Given the description of an element on the screen output the (x, y) to click on. 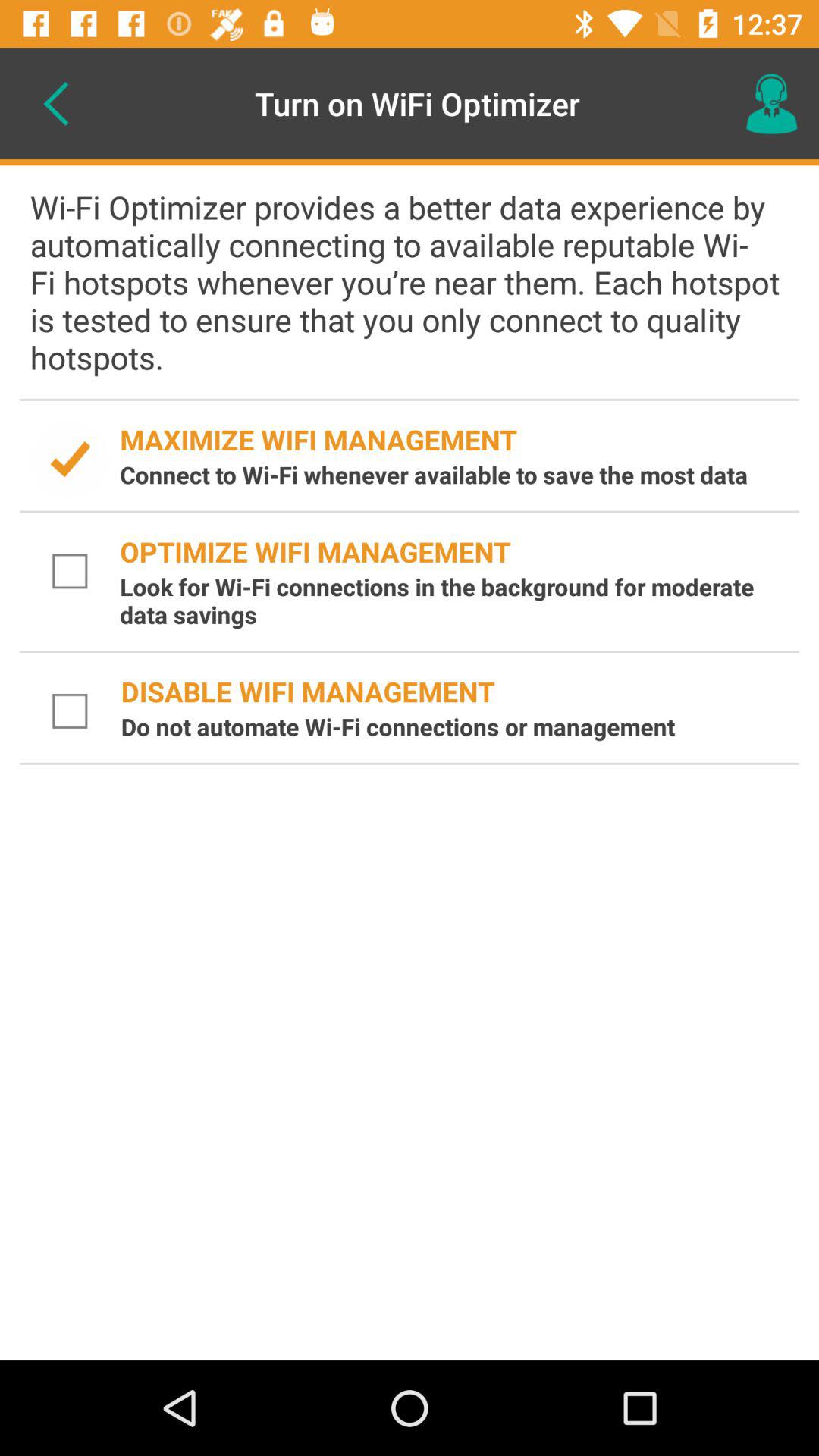
select opiton (69, 571)
